Given the description of an element on the screen output the (x, y) to click on. 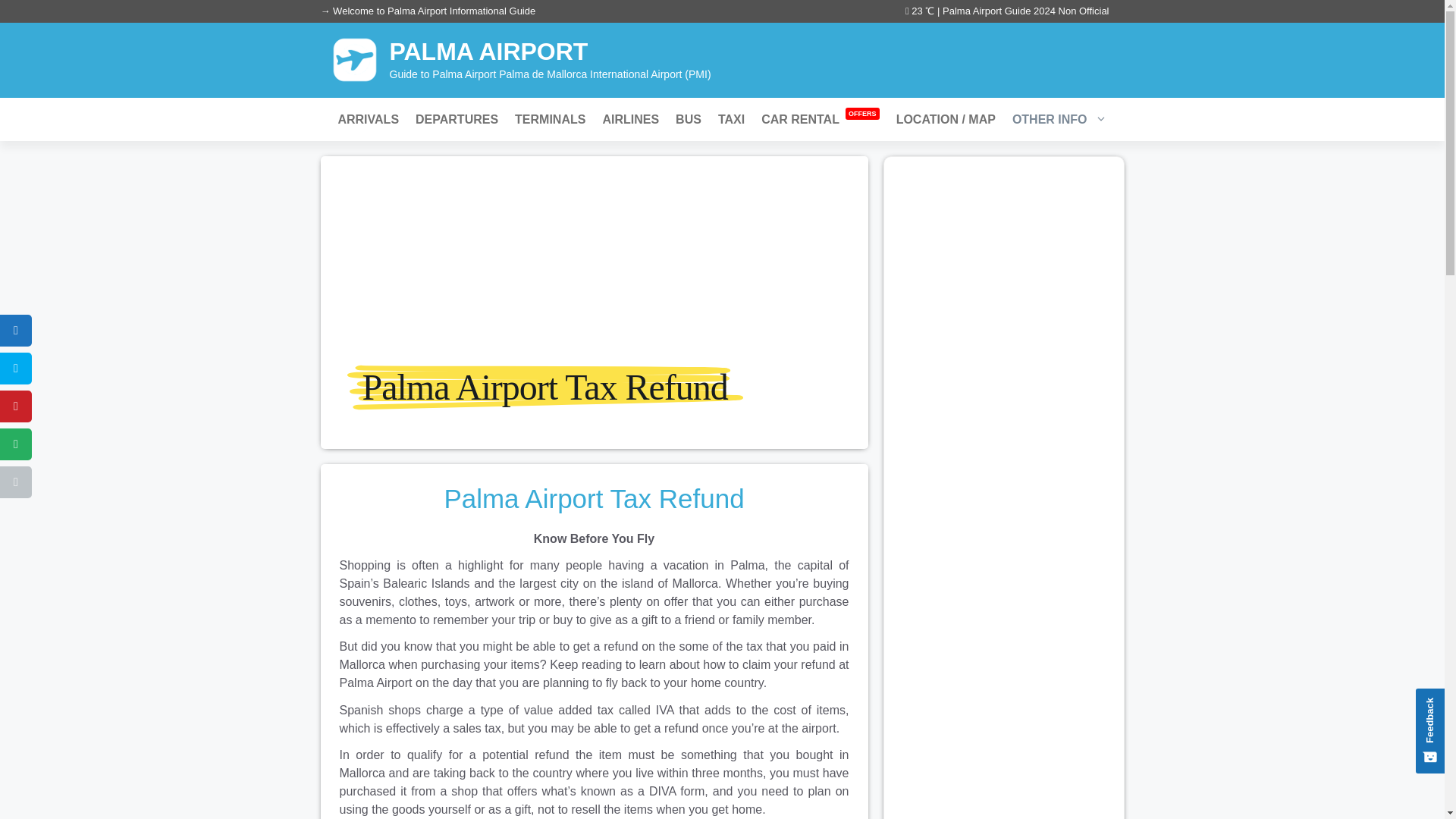
DEPARTURES (456, 118)
OTHER INFO (1059, 118)
Advertisement (1003, 742)
TAXI (731, 118)
PALMA AIRPORT (489, 51)
PALMA AIRPORT (354, 59)
TERMINALS (550, 118)
CAR RENTAL OFFERS (819, 118)
AIRLINES (630, 118)
BUS (688, 118)
